Given the description of an element on the screen output the (x, y) to click on. 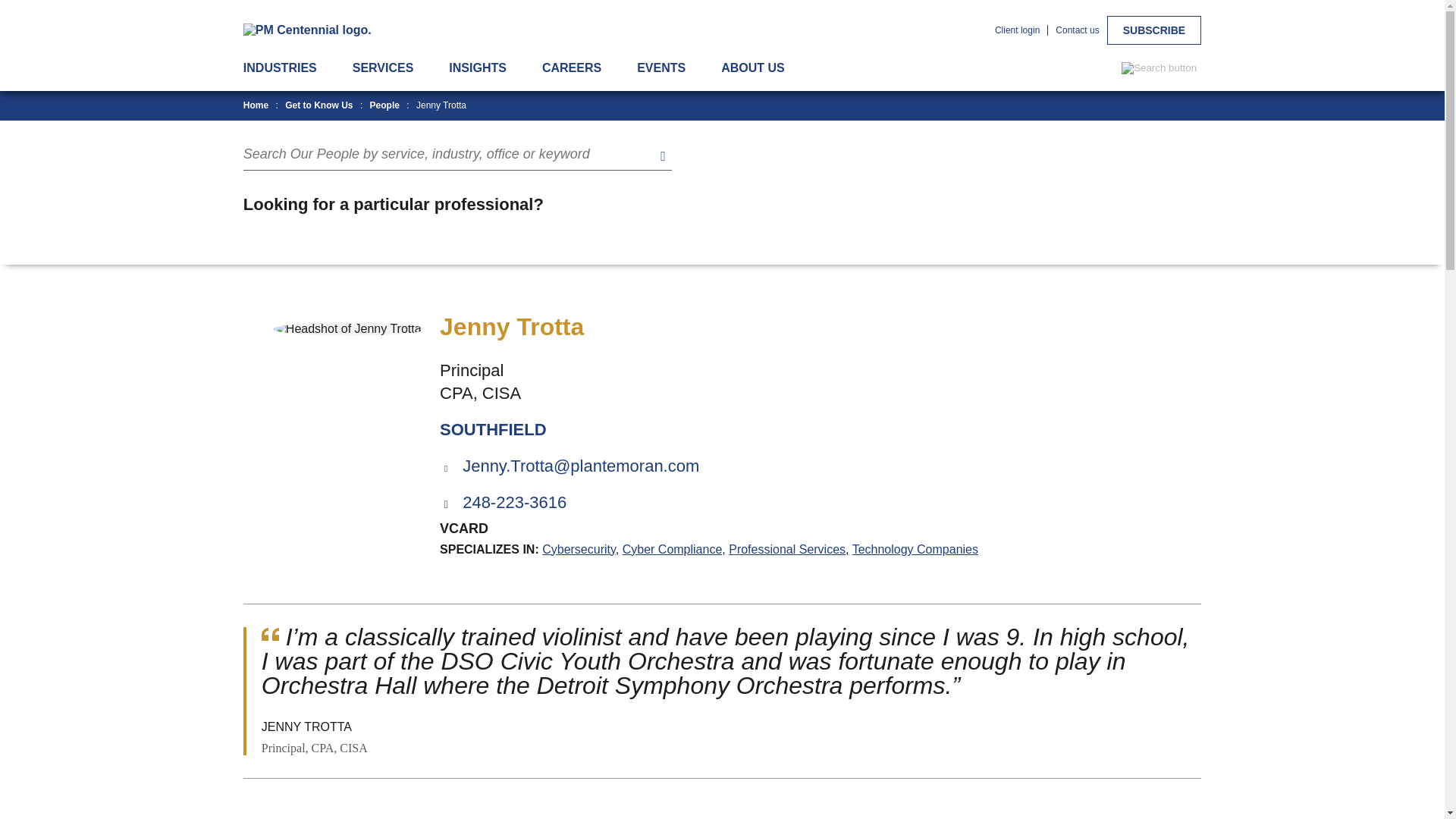
Subscribe Now (1153, 30)
Client login (1016, 30)
Contact us (1077, 30)
Client Login (1016, 30)
SUBSCRIBE (1153, 30)
Contact us (1077, 30)
